Given the description of an element on the screen output the (x, y) to click on. 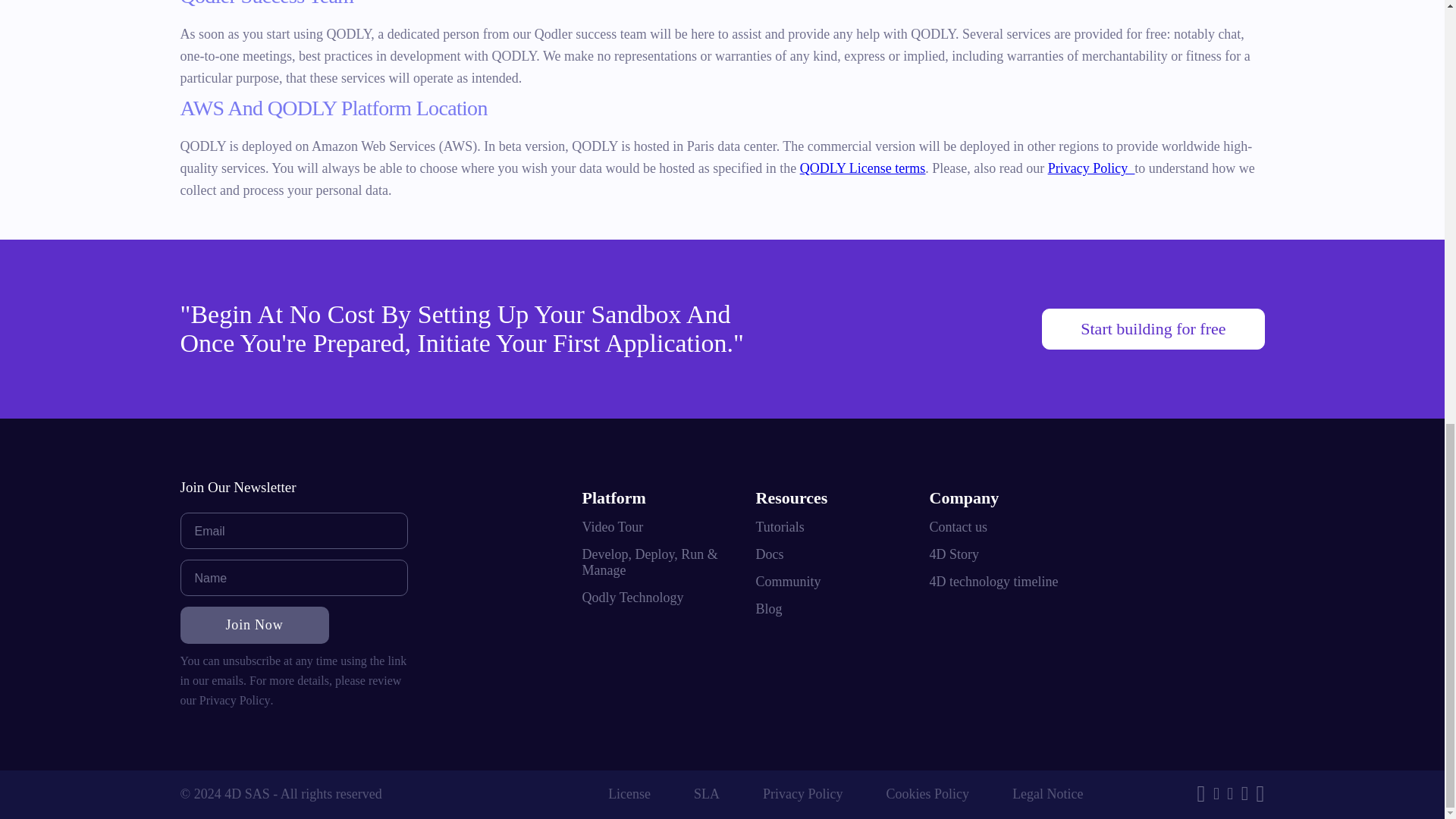
4D technology timeline (994, 581)
Blog (768, 609)
Get started now (1152, 328)
Privacy Policy (234, 700)
Tutorials (779, 527)
Community (788, 581)
4D Story (954, 554)
License (629, 793)
Privacy Policy   (1091, 168)
Contact us (959, 527)
